Given the description of an element on the screen output the (x, y) to click on. 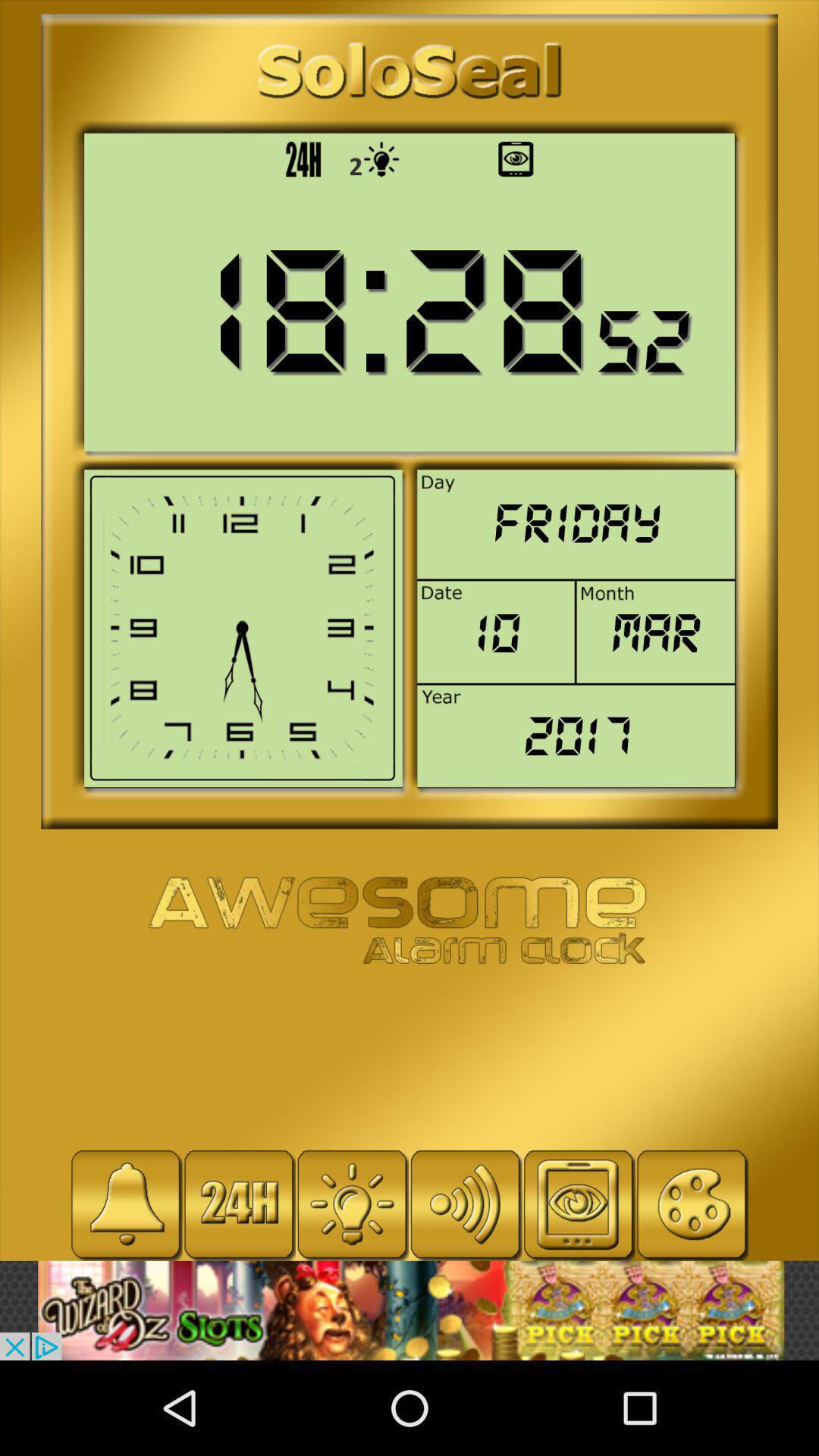
go to alart puttern (125, 1203)
